Given the description of an element on the screen output the (x, y) to click on. 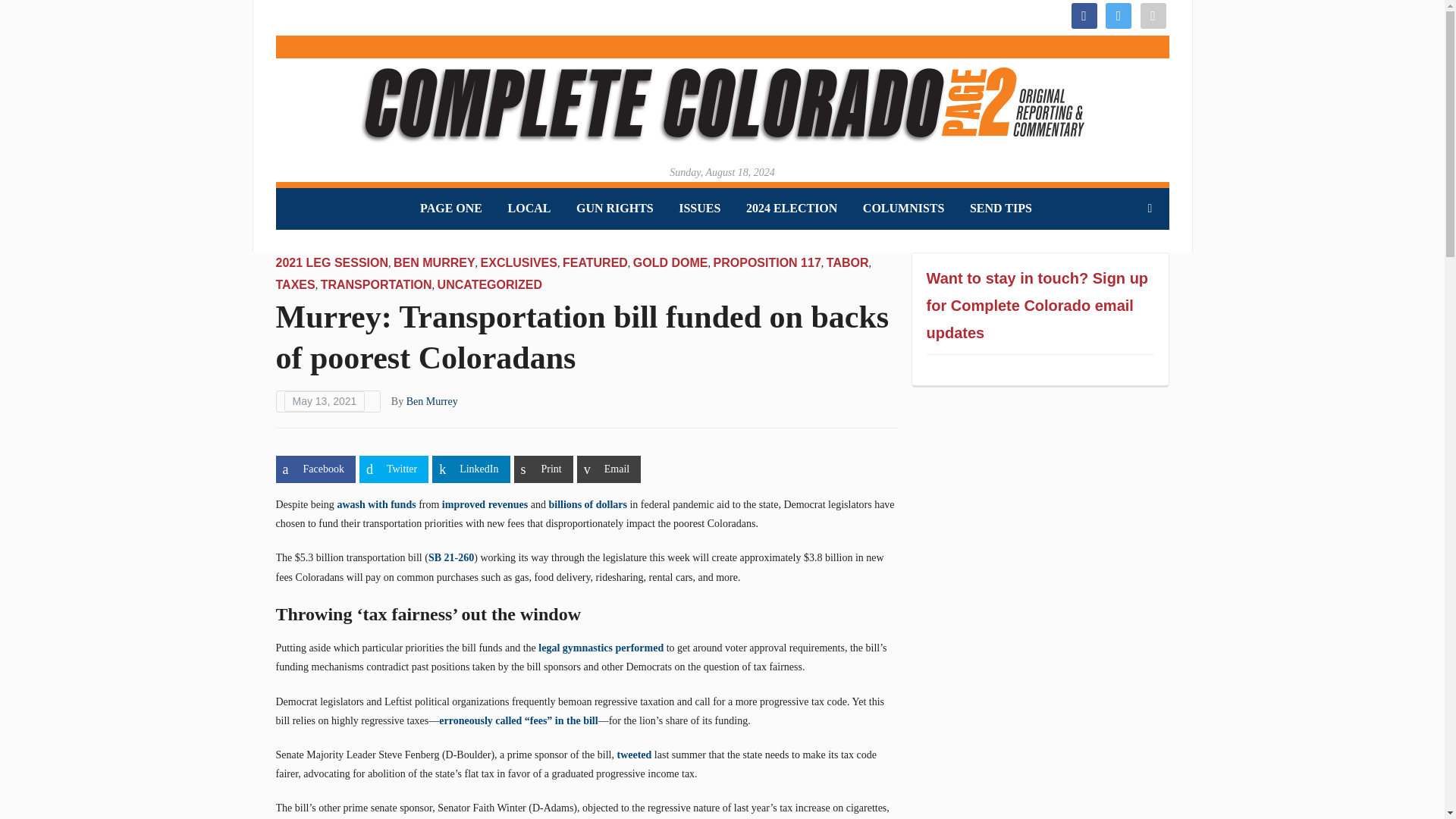
Share on Print (543, 469)
Posts by Ben Murrey (432, 401)
Share on Twitter (393, 469)
facebook (1083, 14)
mail (1153, 14)
Share on Email (608, 469)
Default Label (1153, 14)
Share on Facebook (315, 469)
Share on LinkedIn (470, 469)
twitter (1118, 14)
